Given the description of an element on the screen output the (x, y) to click on. 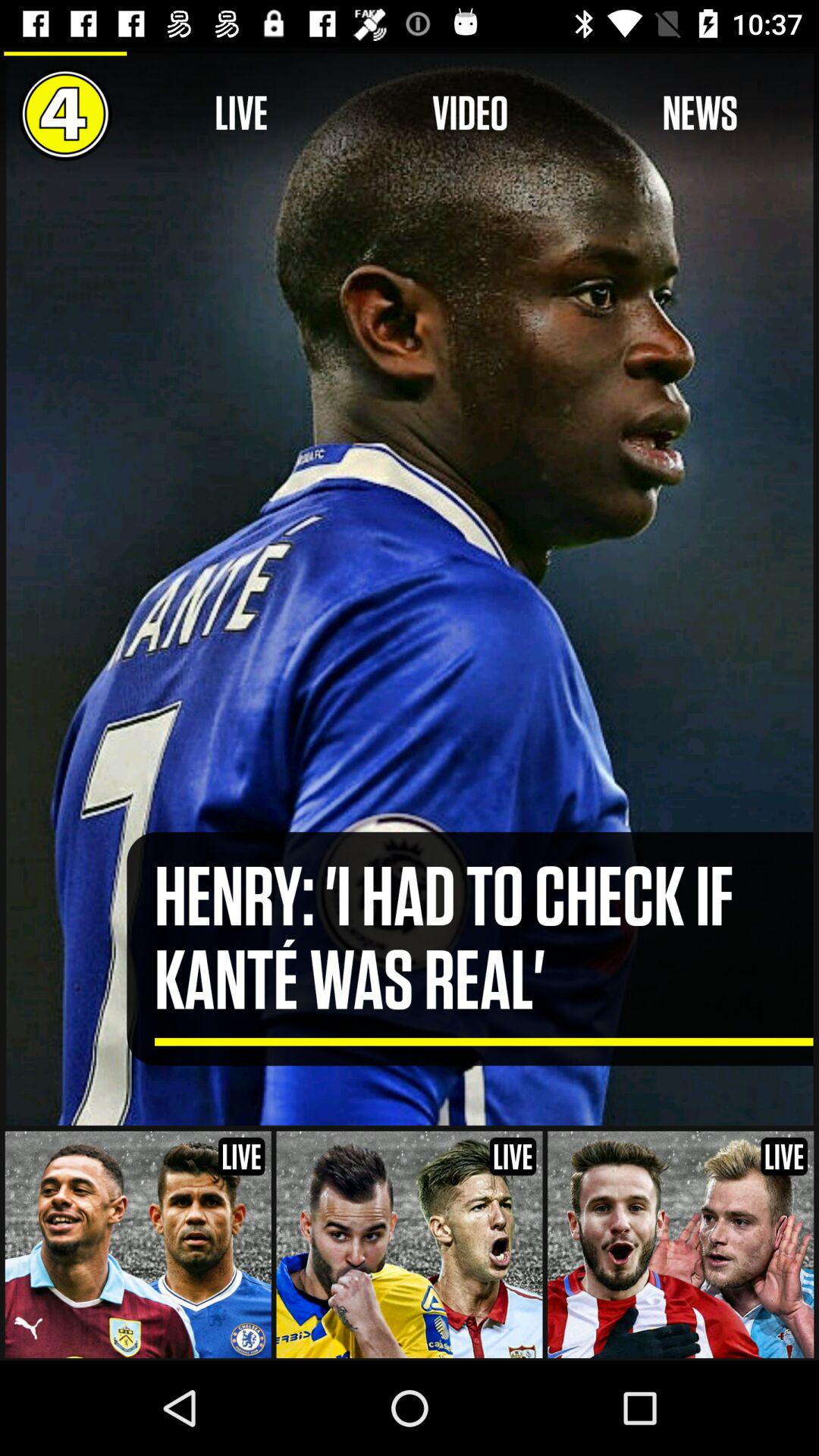
click app to the right of video (700, 113)
